Given the description of an element on the screen output the (x, y) to click on. 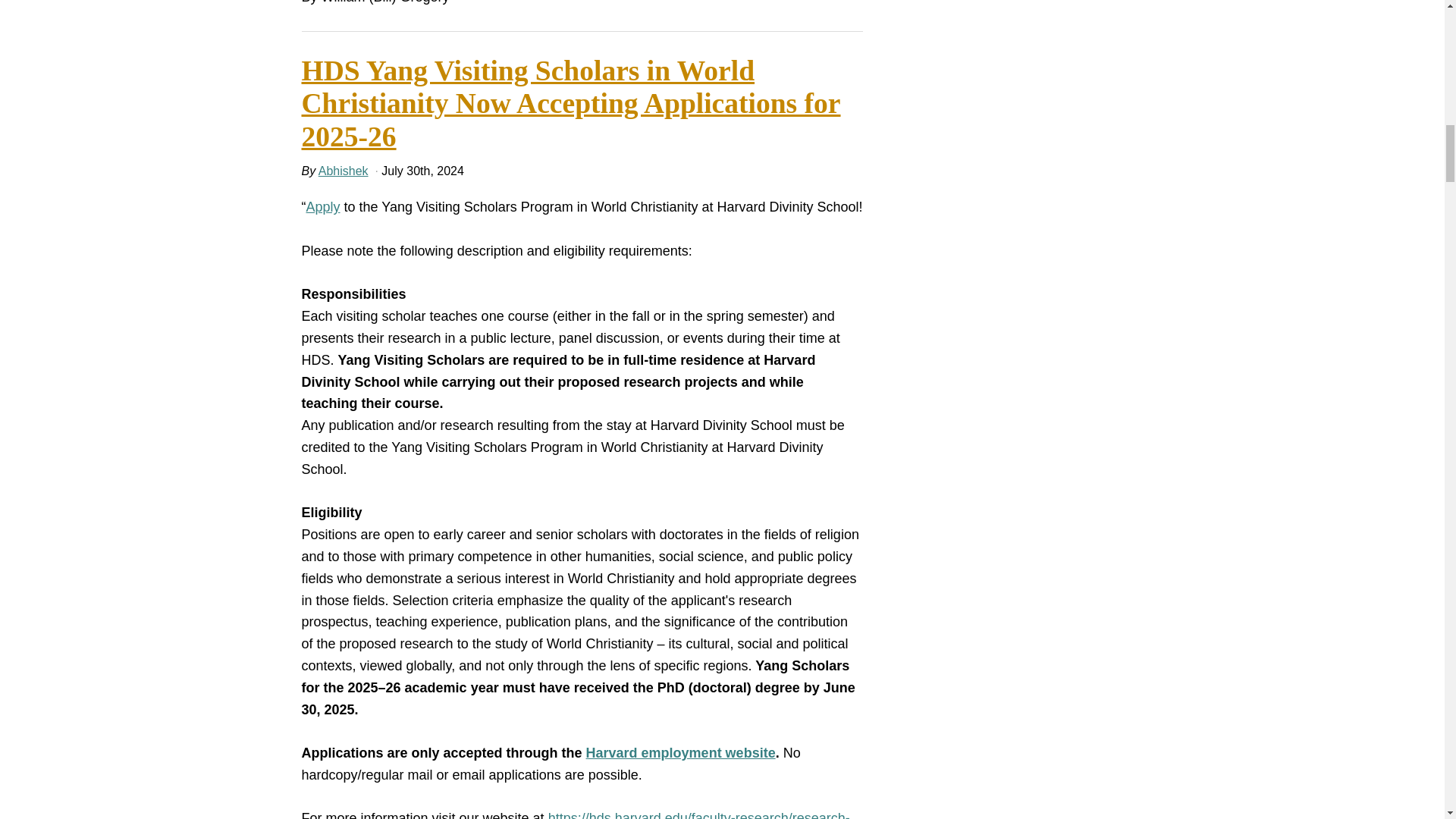
Harvard employment website (681, 752)
Abhishek (343, 170)
Apply (322, 206)
